Given the description of an element on the screen output the (x, y) to click on. 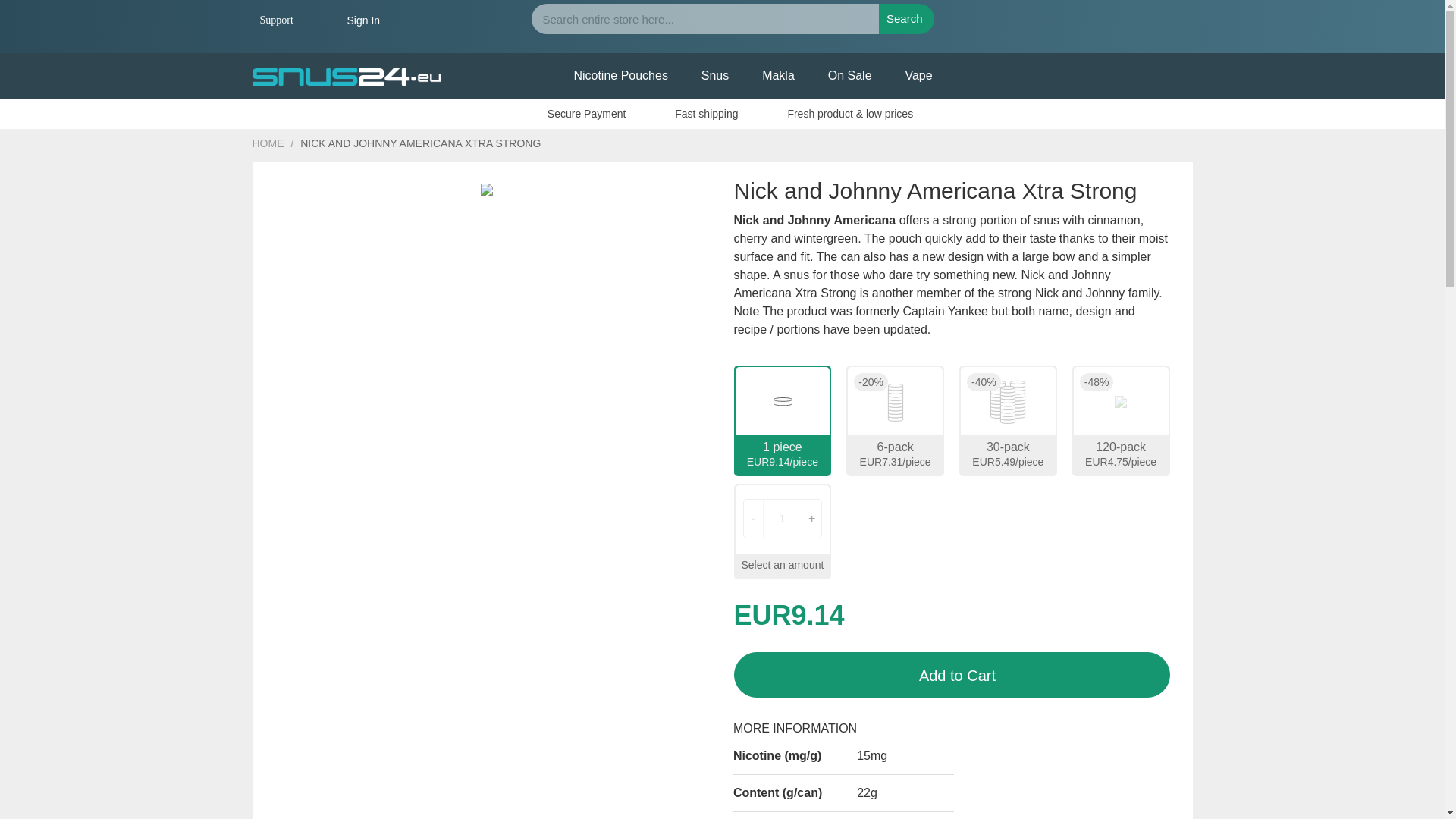
Qty (782, 518)
Nicotine Pouches (620, 75)
Nick and Johnny Americana Xtra Strong (486, 229)
Search (906, 19)
Nick and Johnny Americana Xtra Strong (486, 267)
Nick and Johnny Americana Xtra Strong (486, 286)
Support (275, 19)
1 (782, 518)
Sign In (363, 20)
Nick and Johnny Americana Xtra Strong (486, 248)
